Given the description of an element on the screen output the (x, y) to click on. 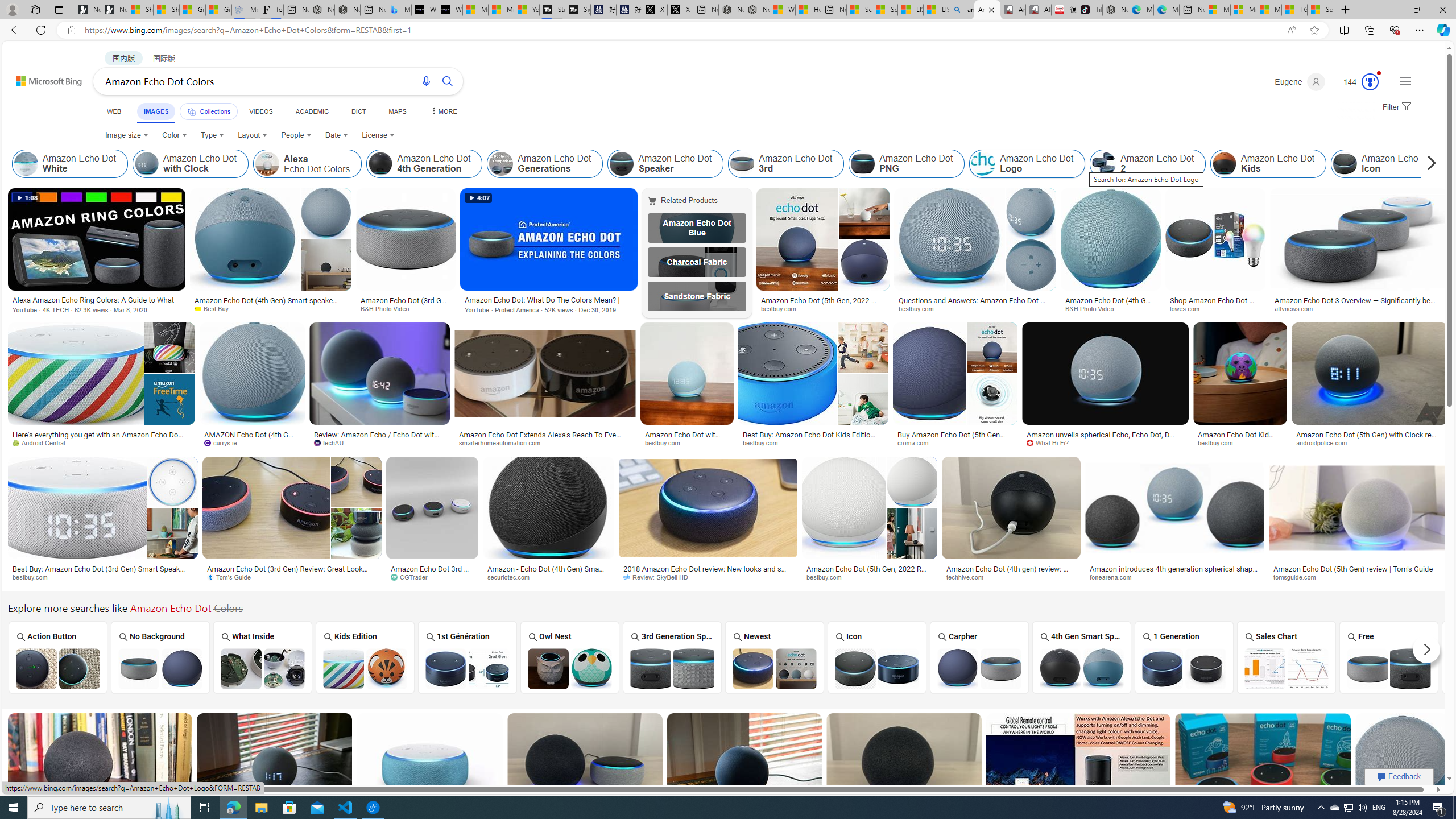
License (378, 135)
Color (173, 135)
Charcoal Fabric (696, 261)
Class: b_pri_nav_svg (191, 112)
Feedback (1399, 776)
